Given the description of an element on the screen output the (x, y) to click on. 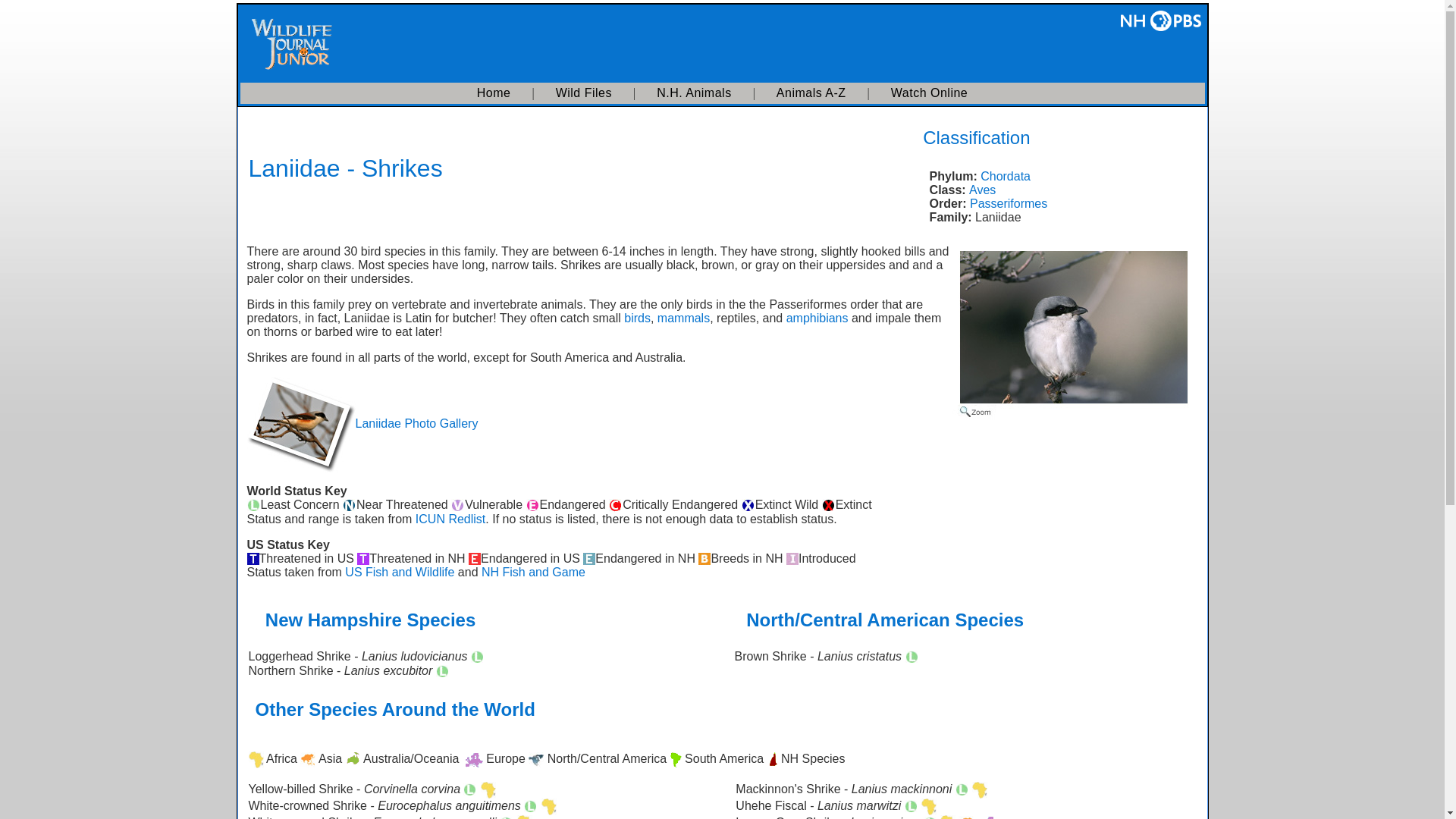
birds (637, 318)
ICUN Redlist (449, 518)
Animals A-Z (810, 92)
Wild Files (583, 92)
N.H. Animals (693, 92)
Passeriformes (1007, 203)
US Fish and Wildlife (399, 571)
Home (494, 92)
Watch Online (929, 92)
Laniidae Photo Gallery (416, 422)
Aves (982, 189)
Chordata (1004, 175)
mammals (684, 318)
NH Fish and Game (533, 571)
amphibians (817, 318)
